Given the description of an element on the screen output the (x, y) to click on. 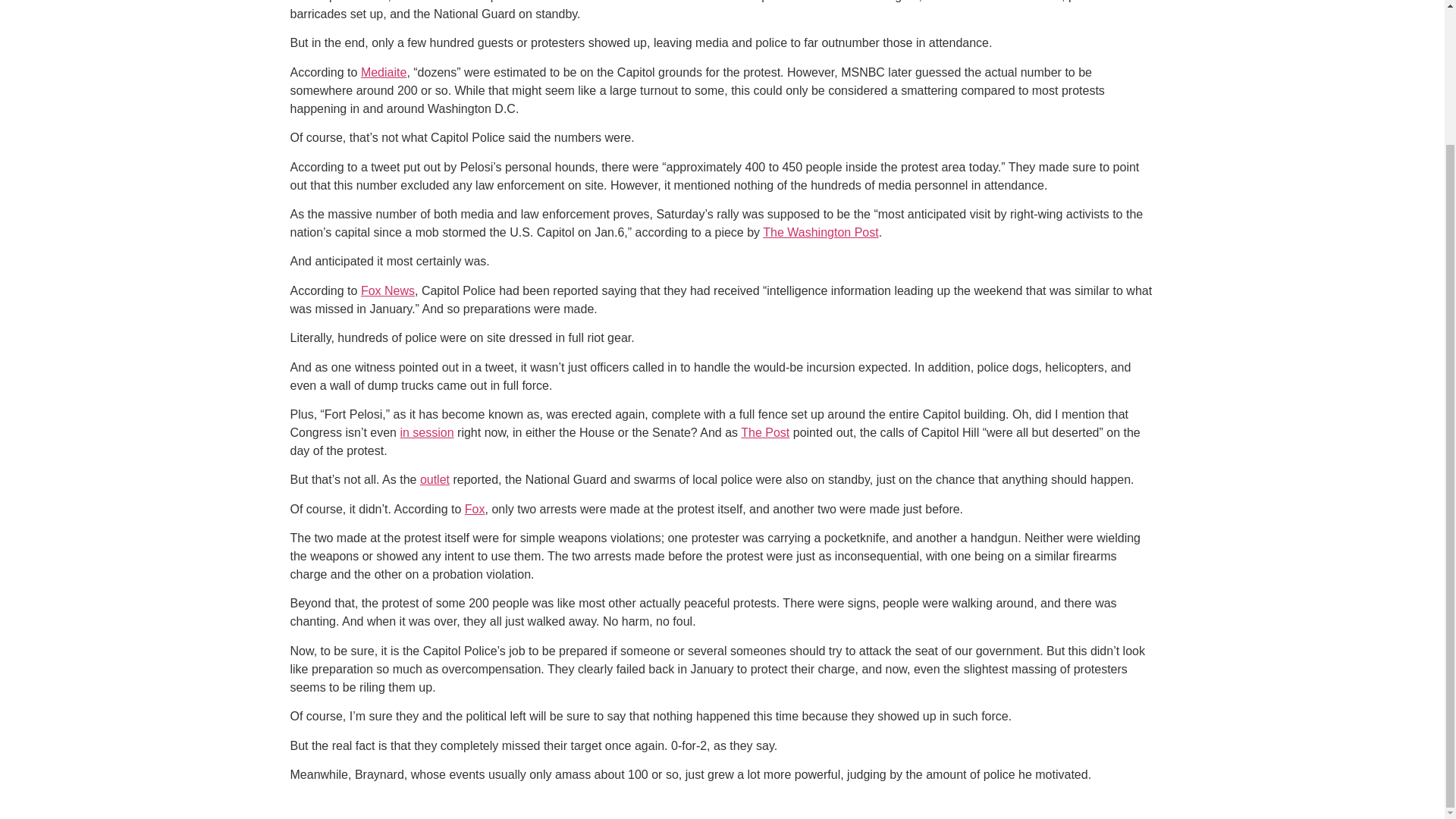
Fox (474, 508)
Mediaite (383, 72)
outlet (434, 479)
Fox News (387, 290)
in session (425, 431)
The Post (765, 431)
The Washington Post (819, 232)
